Given the description of an element on the screen output the (x, y) to click on. 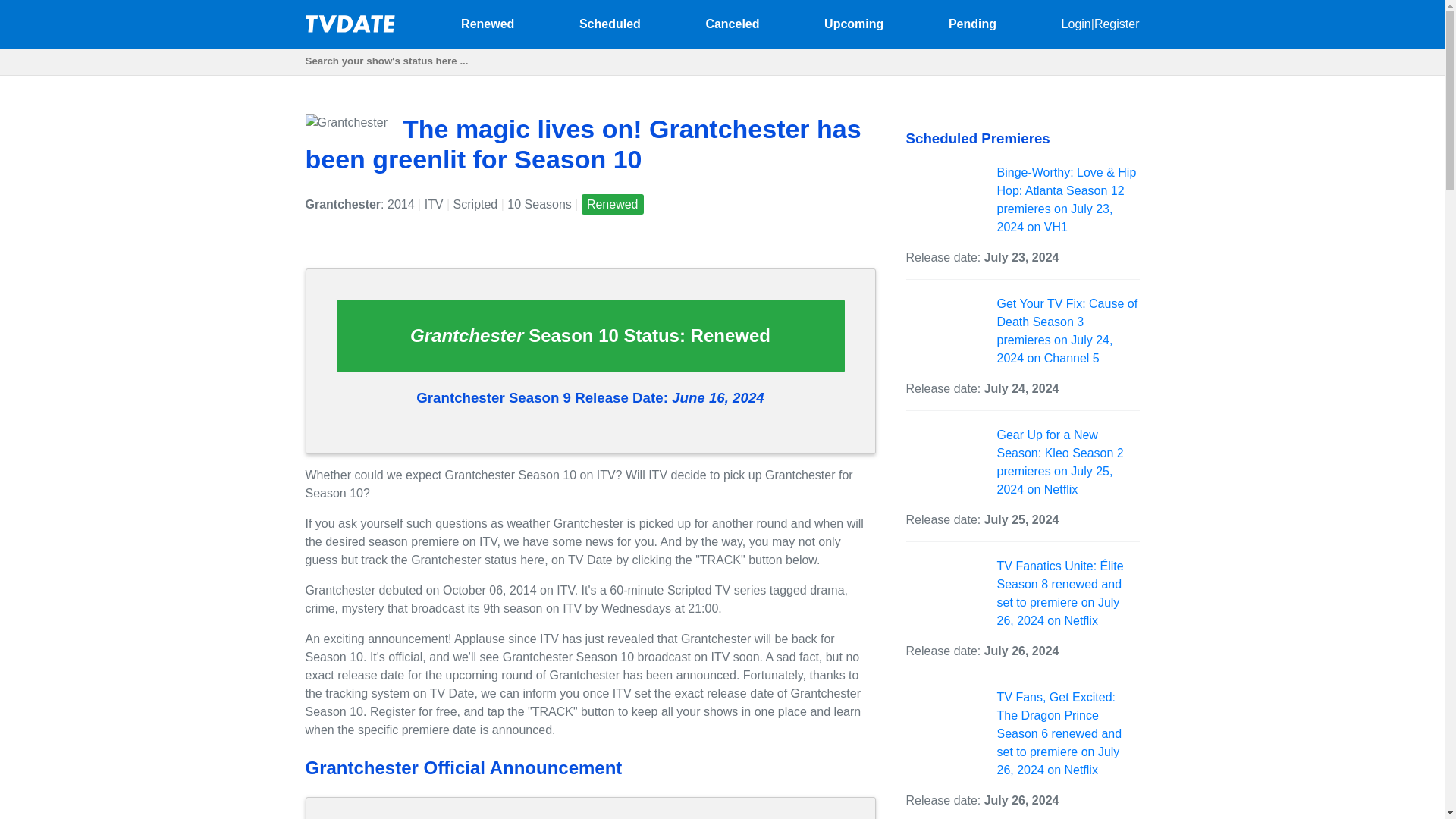
Upcoming (853, 23)
Login (1075, 23)
Register (1117, 23)
Pending (972, 23)
Canceled (731, 23)
Renewed (487, 23)
Scheduled (609, 23)
